Given the description of an element on the screen output the (x, y) to click on. 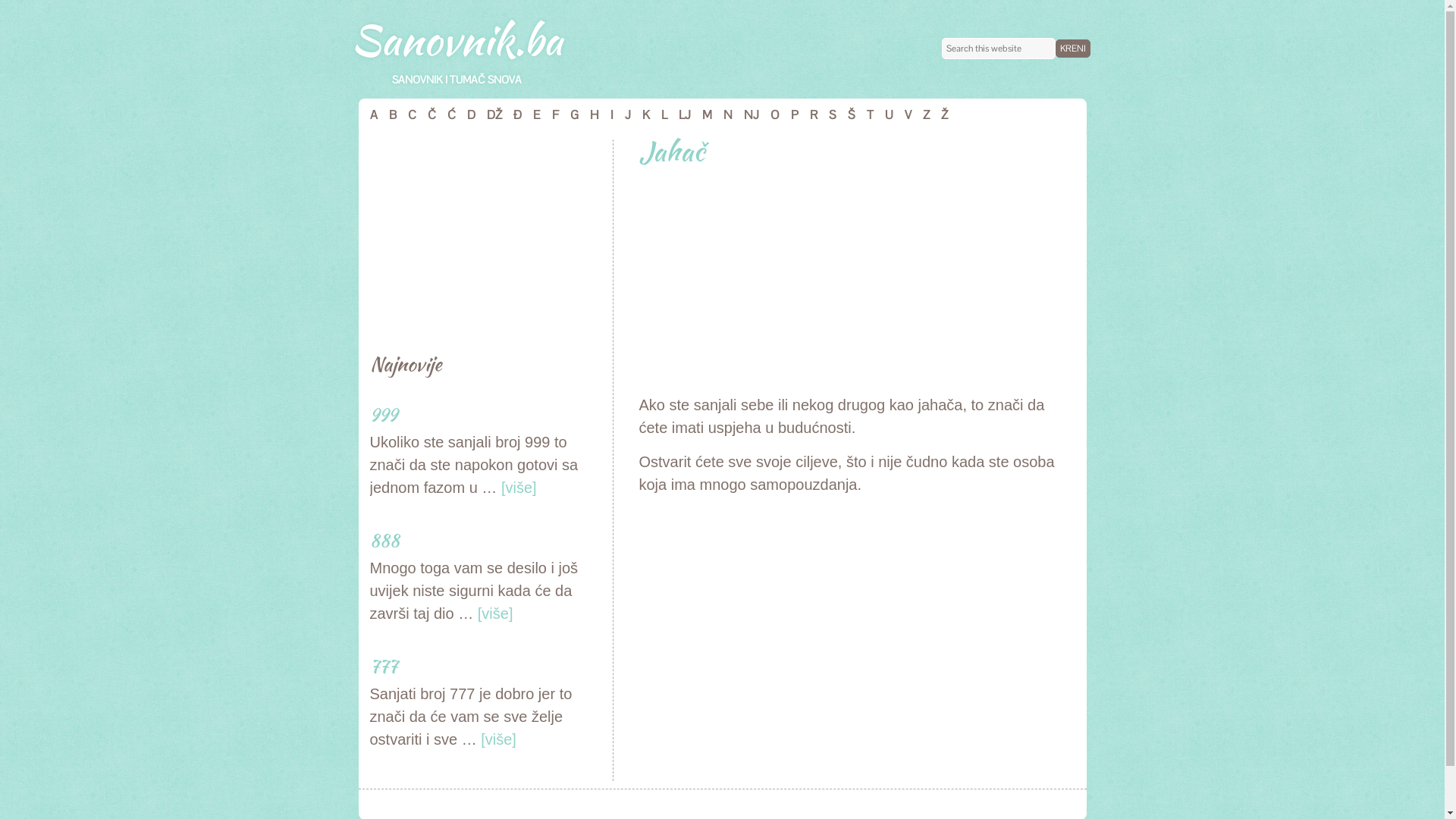
V Element type: text (902, 114)
S Element type: text (826, 114)
Advertisement Element type: hover (850, 279)
Z Element type: text (920, 114)
K Element type: text (639, 114)
LJ Element type: text (678, 114)
L Element type: text (657, 114)
B Element type: text (386, 114)
O Element type: text (768, 114)
E Element type: text (530, 114)
I Element type: text (606, 114)
888 Element type: text (384, 540)
NJ Element type: text (745, 114)
M Element type: text (700, 114)
J Element type: text (621, 114)
N Element type: text (721, 114)
R Element type: text (806, 114)
H Element type: text (587, 114)
777 Element type: text (383, 666)
Sanovnik.ba Element type: text (456, 39)
G Element type: text (567, 114)
D Element type: text (464, 114)
A Element type: text (366, 114)
Kreni Element type: text (1072, 48)
Advertisement Element type: hover (850, 617)
C Element type: text (405, 114)
U Element type: text (883, 114)
P Element type: text (788, 114)
999 Element type: text (383, 414)
T Element type: text (864, 114)
Advertisement Element type: hover (483, 234)
F Element type: text (548, 114)
